Given the description of an element on the screen output the (x, y) to click on. 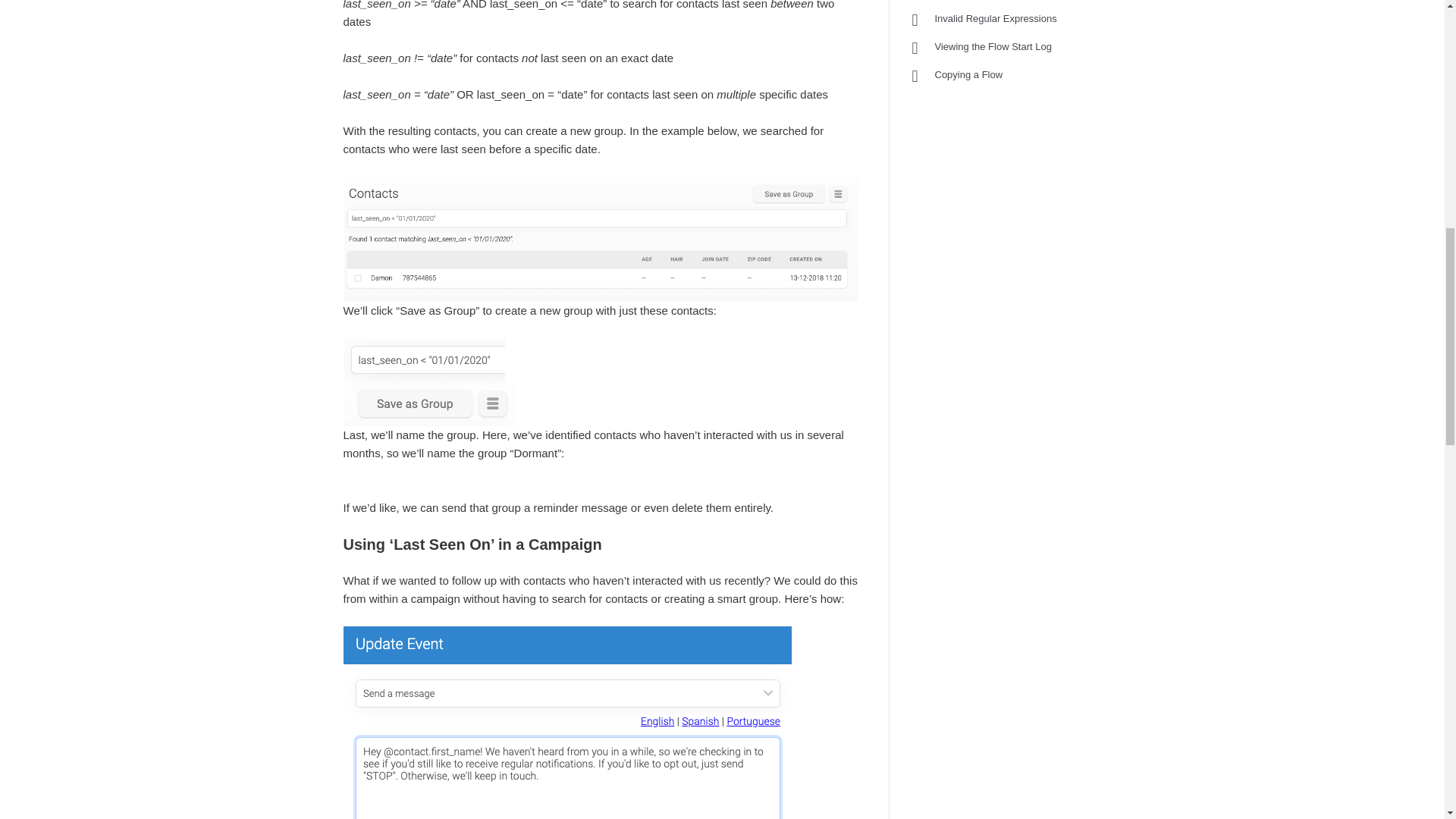
Viewing the Flow Start Log (992, 46)
Invalid Regular Expressions (995, 18)
